Given the description of an element on the screen output the (x, y) to click on. 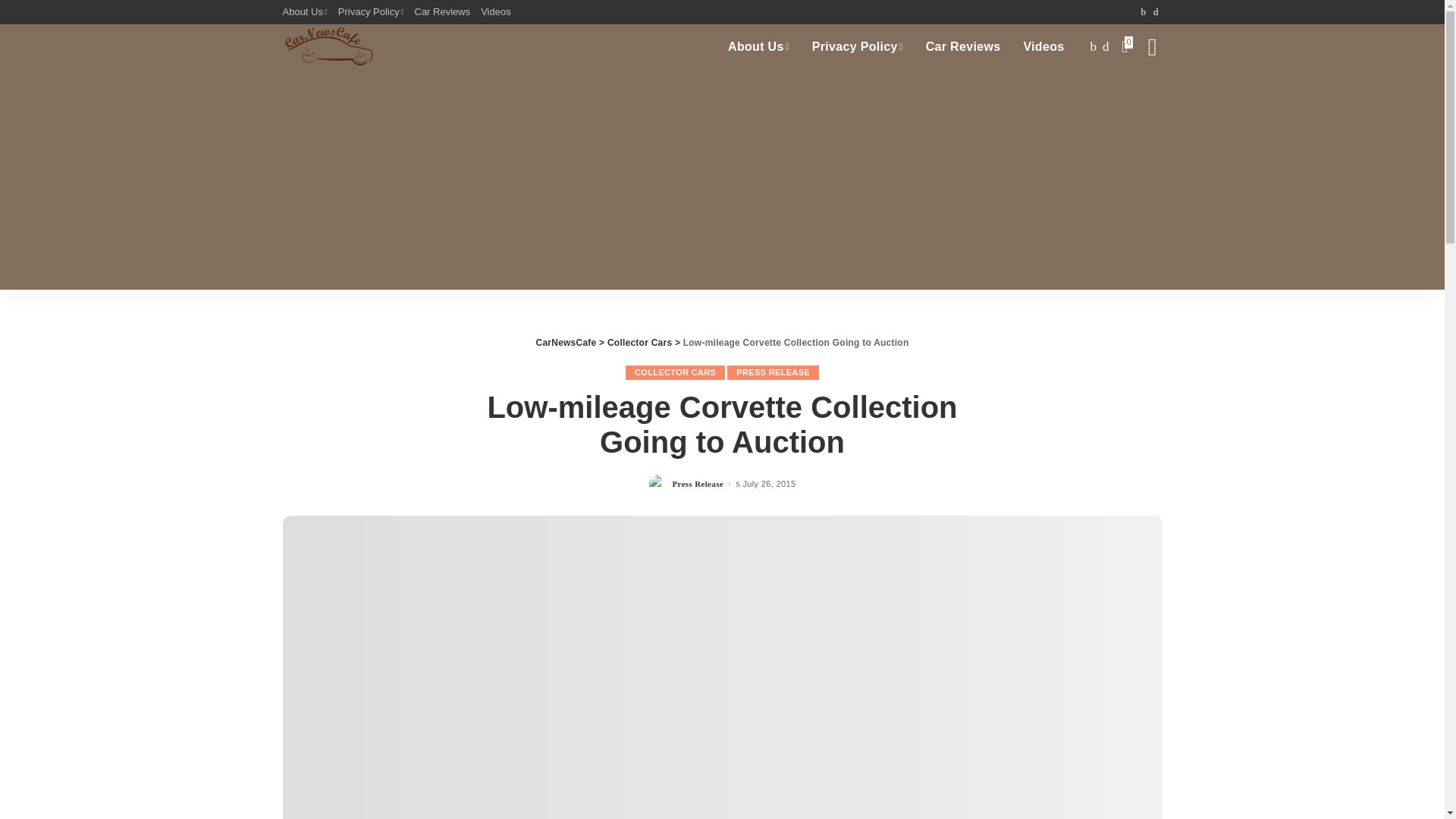
Videos (1043, 46)
CarNewsCafe (328, 46)
Car Reviews (962, 46)
About Us (758, 46)
About Us (306, 12)
Privacy Policy (371, 12)
Car Reviews (442, 12)
Privacy Policy (857, 46)
Videos (496, 12)
Search (1140, 97)
